Given the description of an element on the screen output the (x, y) to click on. 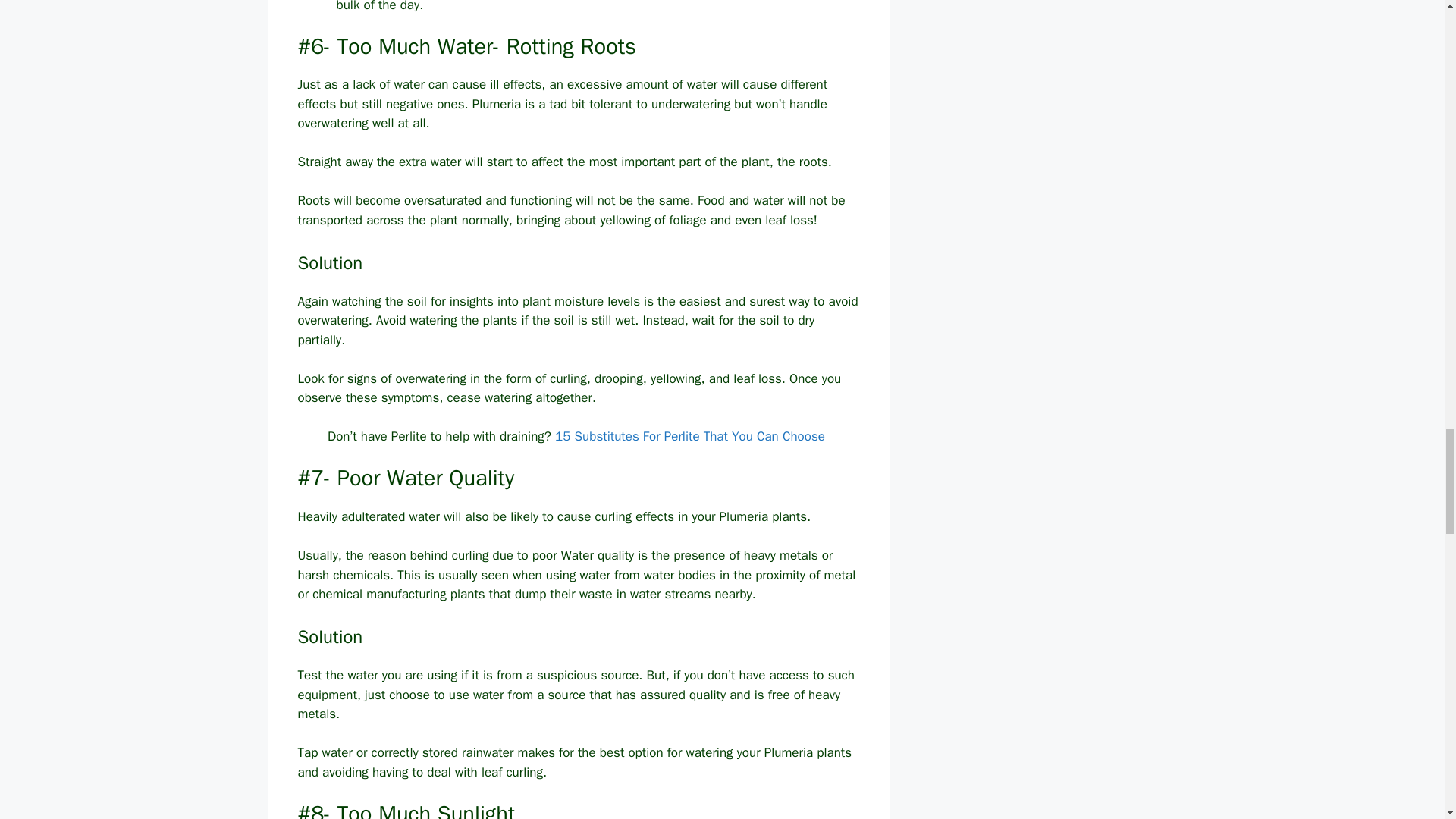
15 Substitutes For Perlite That You Can Choose (689, 436)
